Given the description of an element on the screen output the (x, y) to click on. 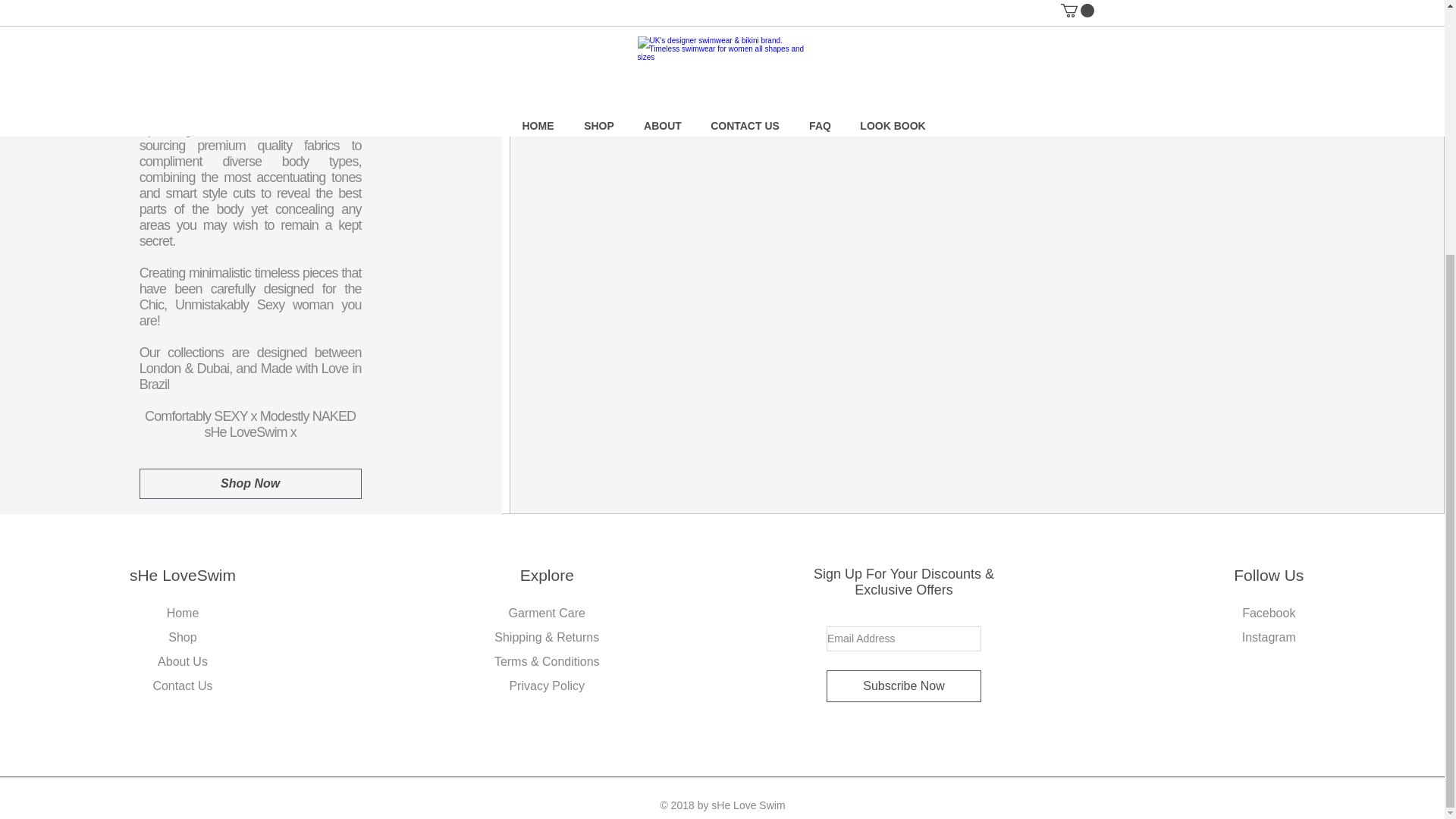
 Us (198, 661)
Facebook (1268, 612)
About (173, 661)
Shop Now (250, 483)
Subscribe Now (904, 685)
Garment Care (546, 612)
Instagram (1268, 636)
Privacy Policy (546, 685)
Contact Us (182, 685)
Shop (182, 636)
Home (183, 612)
